Given the description of an element on the screen output the (x, y) to click on. 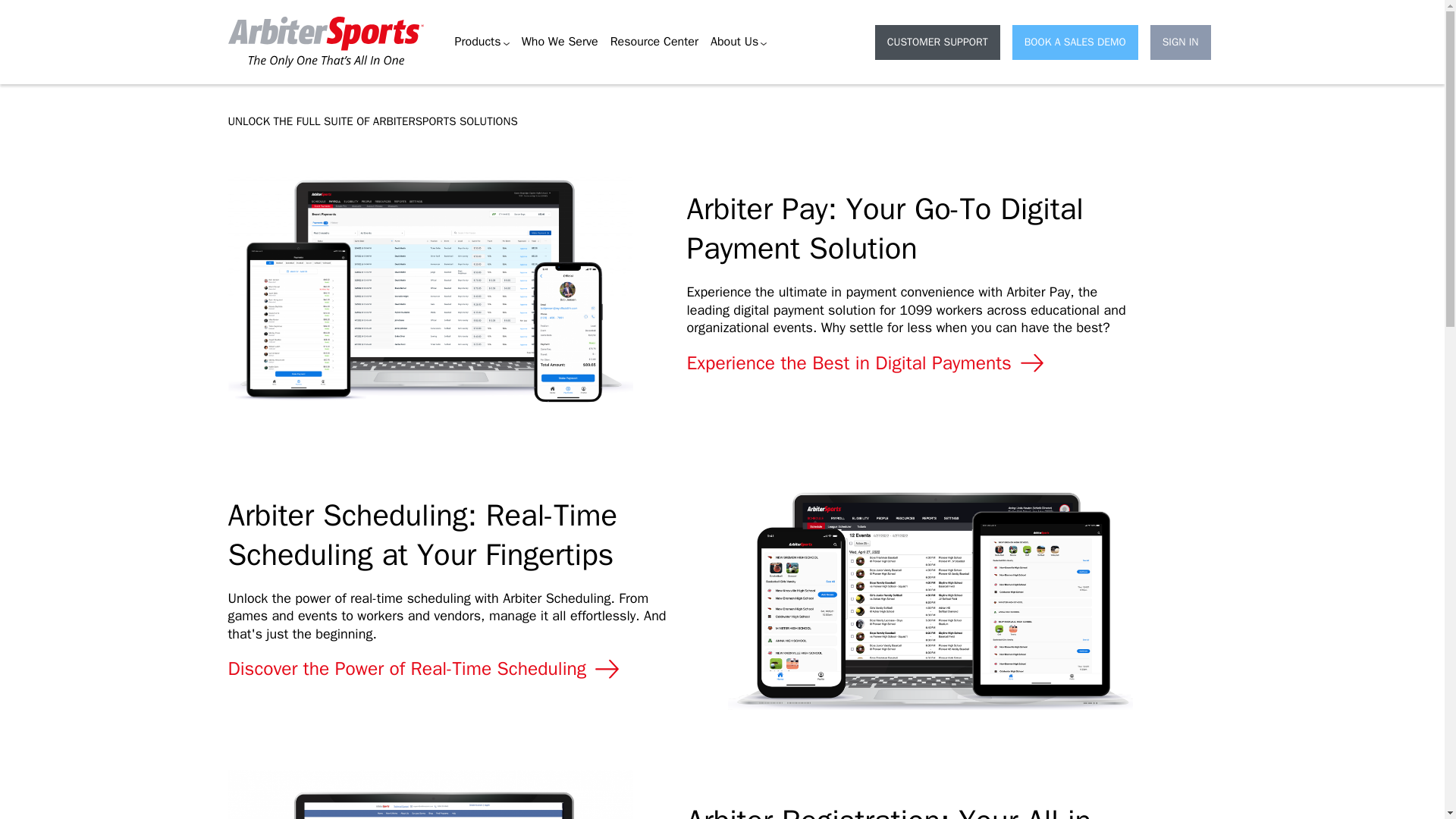
CUSTOMER SUPPORT (937, 42)
BOOK A SALES DEMO (1074, 42)
SIGN IN (1180, 42)
Products (481, 41)
Experience the Best in Digital Payments (868, 363)
Who We Serve (559, 41)
Arbiter Sports (263, 73)
About Us (738, 41)
Discover the Power of Real-Time Scheduling (425, 668)
Resource Center (654, 41)
